Given the description of an element on the screen output the (x, y) to click on. 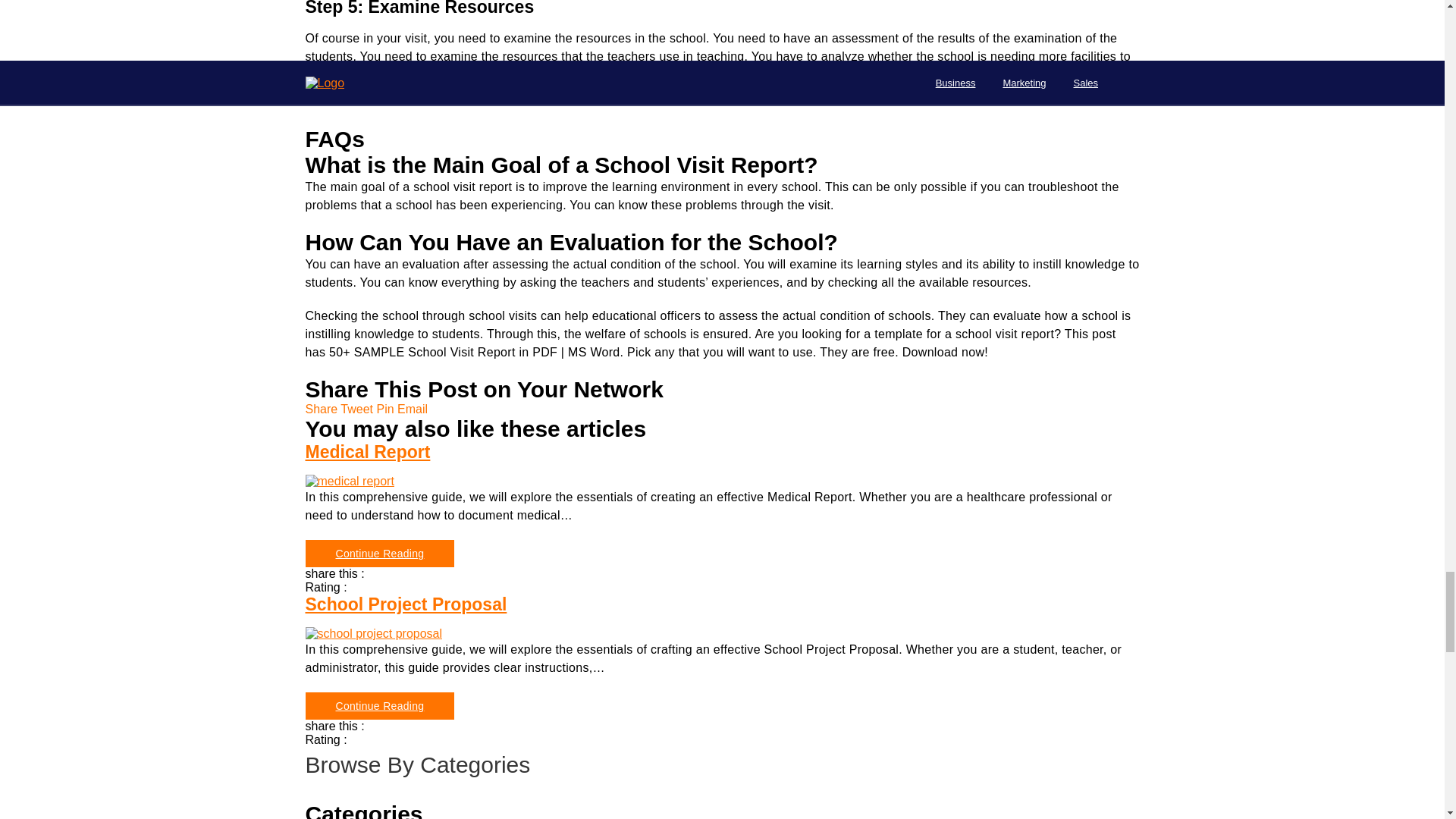
School Project Proposal (721, 604)
School Project Proposal (379, 705)
Medical Report (721, 452)
School Project Proposal (373, 633)
Medical Report (348, 481)
Medical Report (721, 481)
Medical Report (379, 553)
School Project Proposal (721, 633)
